Given the description of an element on the screen output the (x, y) to click on. 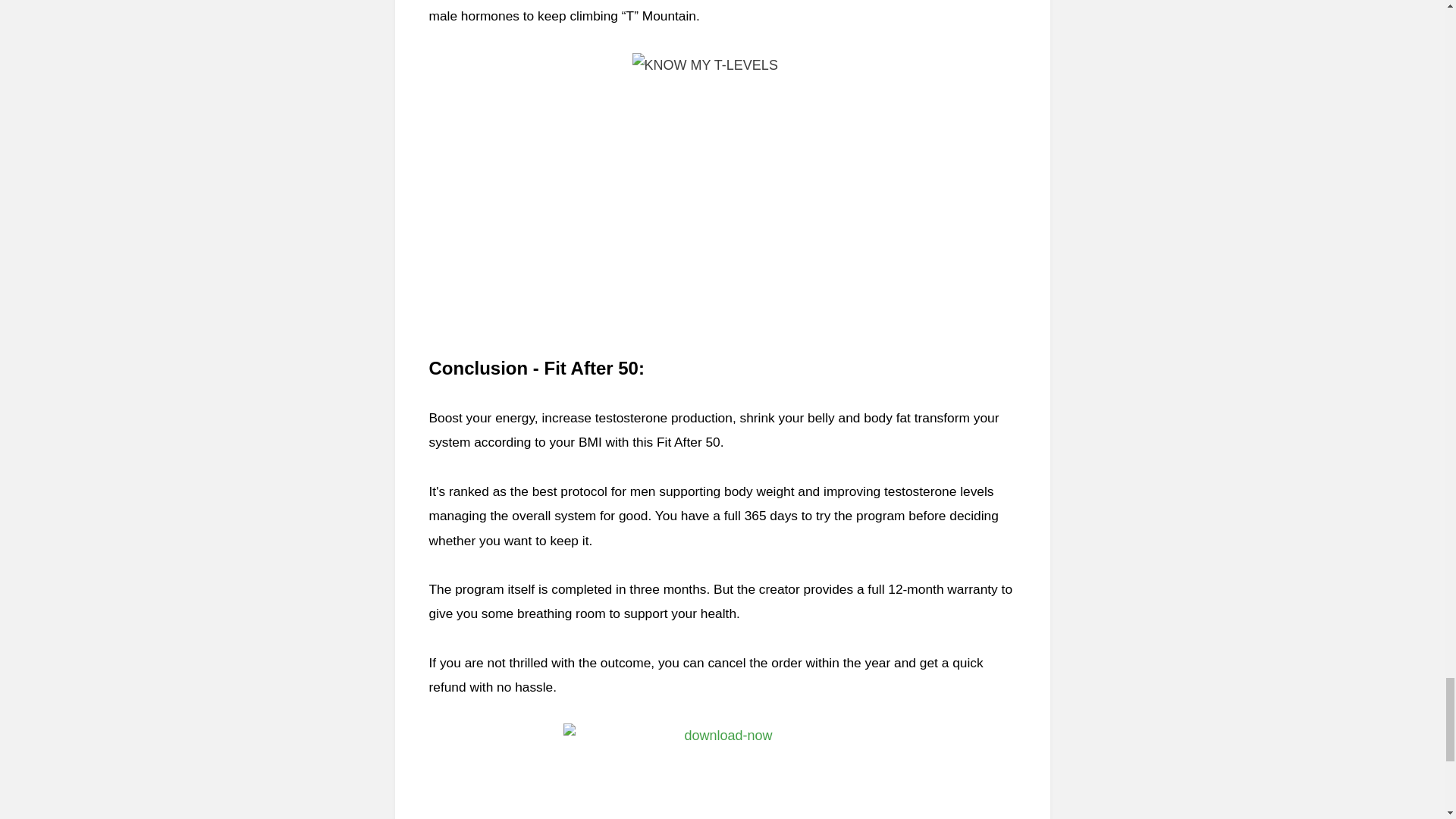
increase testosterone production (636, 417)
